Given the description of an element on the screen output the (x, y) to click on. 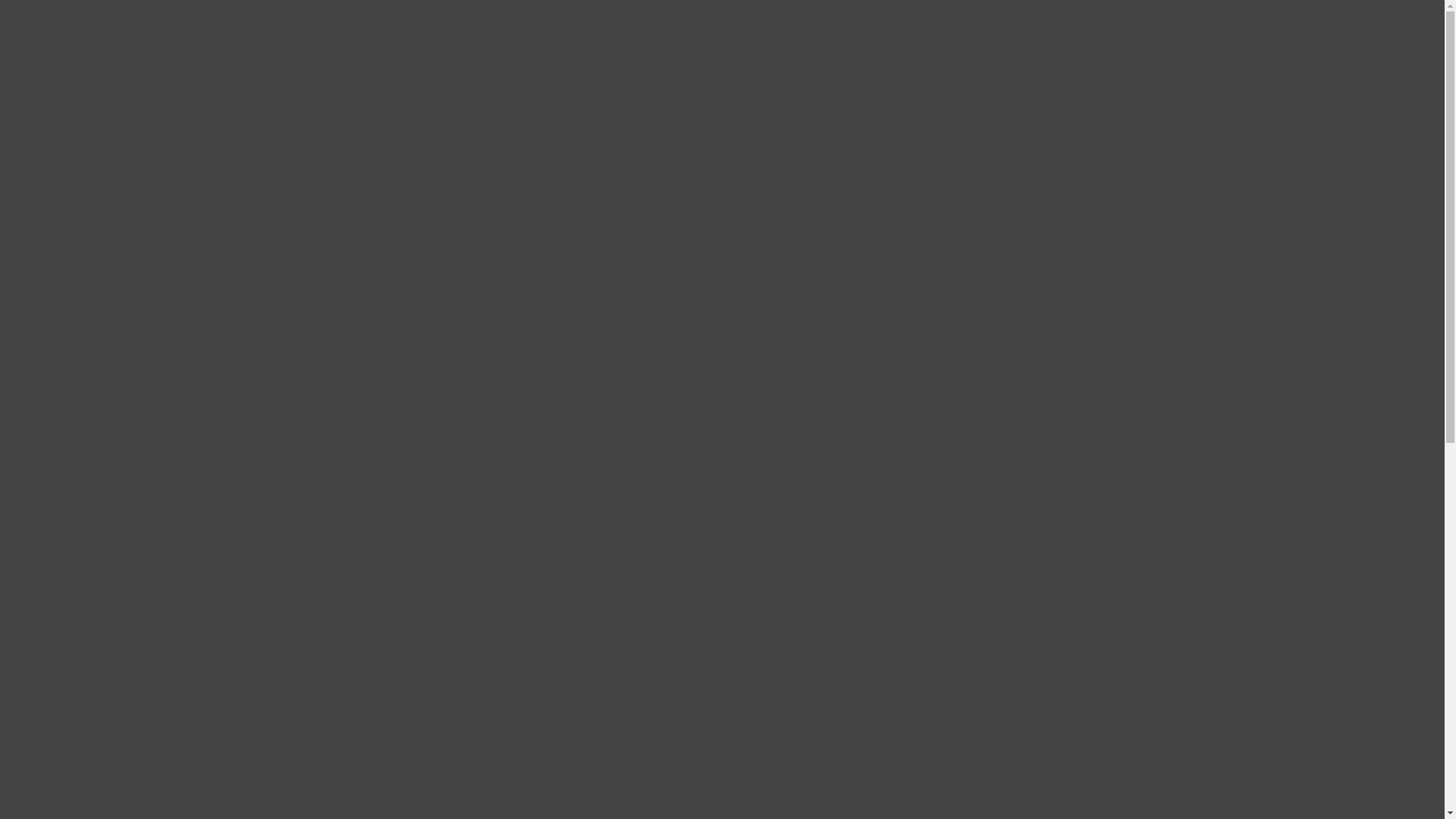
Application Form Element type: text (109, 400)
Beaudesert School Bus Element type: text (122, 277)
Flexilink Information Element type: text (118, 550)
Route 587 Element type: text (91, 441)
My Details Element type: text (752, 65)
St Peter Claver Element type: text (103, 332)
Beaudesert Bus Service Element type: text (124, 523)
San Damiano College Element type: text (119, 373)
Code Of Conduct Element type: text (109, 386)
Online Quotation Element type: text (108, 482)
Login Element type: text (752, 52)
TKIS Element type: text (80, 318)
My Bookings Element type: text (752, 93)
RollCall Parent Portal Element type: text (119, 413)
Faith Lutheran College Element type: text (122, 345)
Canterbury-Coll Element type: text (106, 304)
Kimberly College Element type: text (109, 359)
Logan Coaches Element type: text (103, 509)
Skip to content Element type: text (42, 12)
Privacy Element type: text (84, 564)
About Us Element type: text (59, 236)
Home Element type: text (50, 222)
Site Map Element type: text (28, 183)
Logan School Bus Element type: text (111, 263)
Canterbury College Element type: text (114, 291)
My Statement Element type: text (752, 106)
My Quotations Element type: text (752, 79)
Jacobs Well Timetable Element type: text (120, 454)
My Account Element type: text (66, 37)
Logan Coaches | Tel: 07 5546 3077 Element type: hover (98, 197)
